Given the description of an element on the screen output the (x, y) to click on. 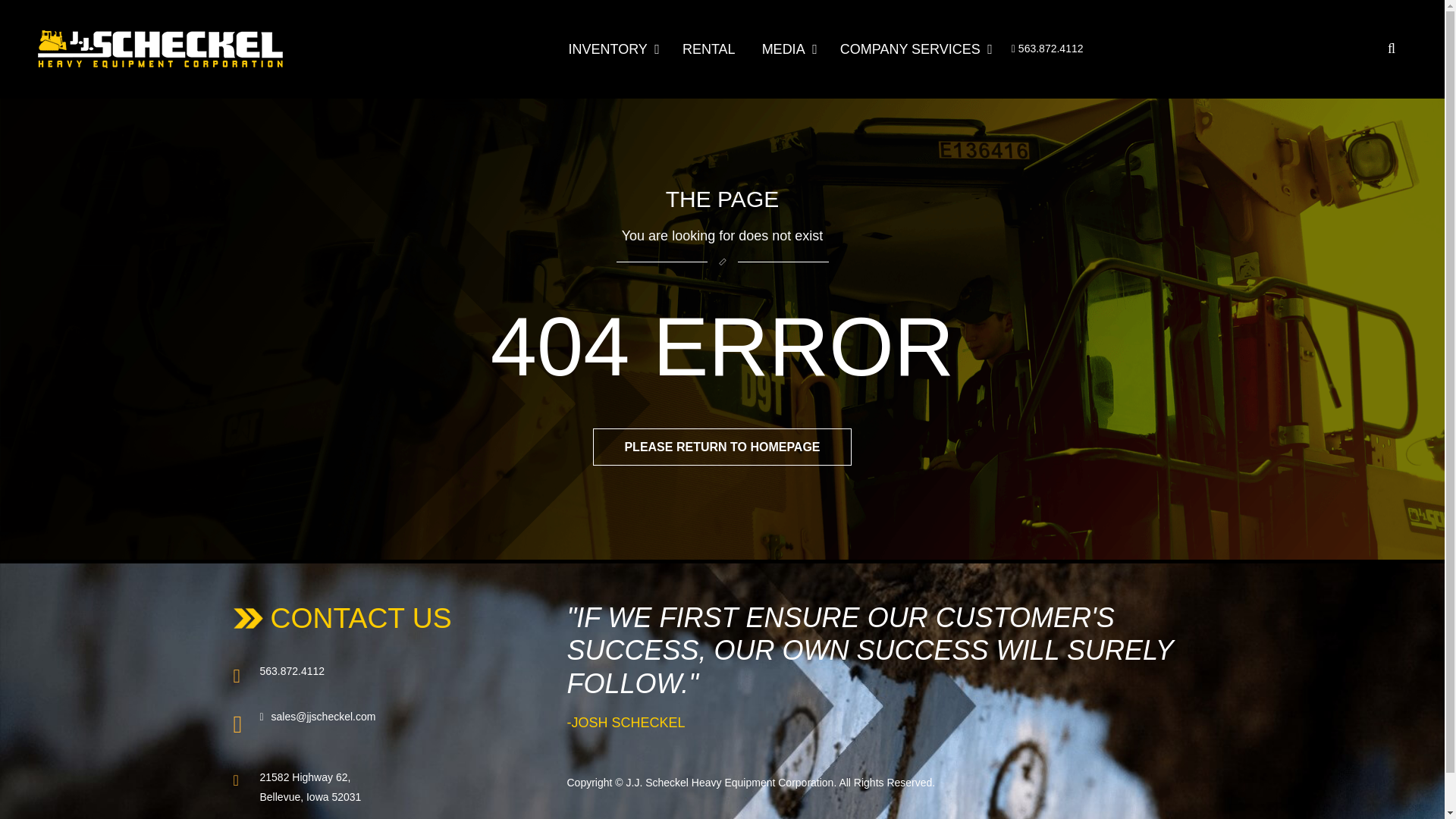
INVENTORY (618, 49)
J.J. Scheckel - Heavy equipment rental, rebuilds, and sales (159, 49)
